Given the description of an element on the screen output the (x, y) to click on. 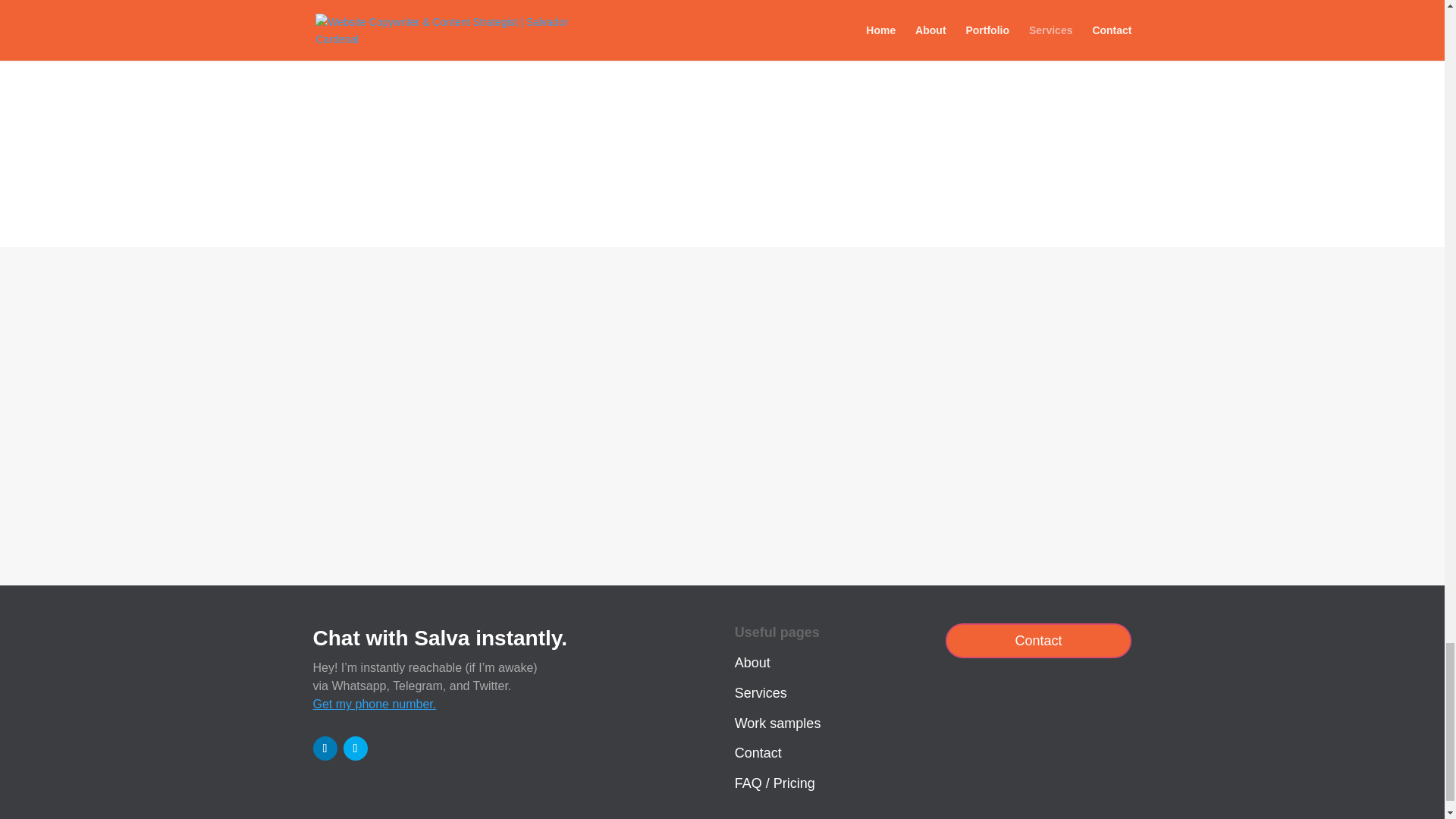
Follow on LinkedIn (324, 748)
Work samples (778, 723)
Contact (1038, 640)
Contact (758, 752)
Follow on Twitter (354, 748)
About (752, 662)
Get my phone number. (374, 703)
Services (761, 693)
